Given the description of an element on the screen output the (x, y) to click on. 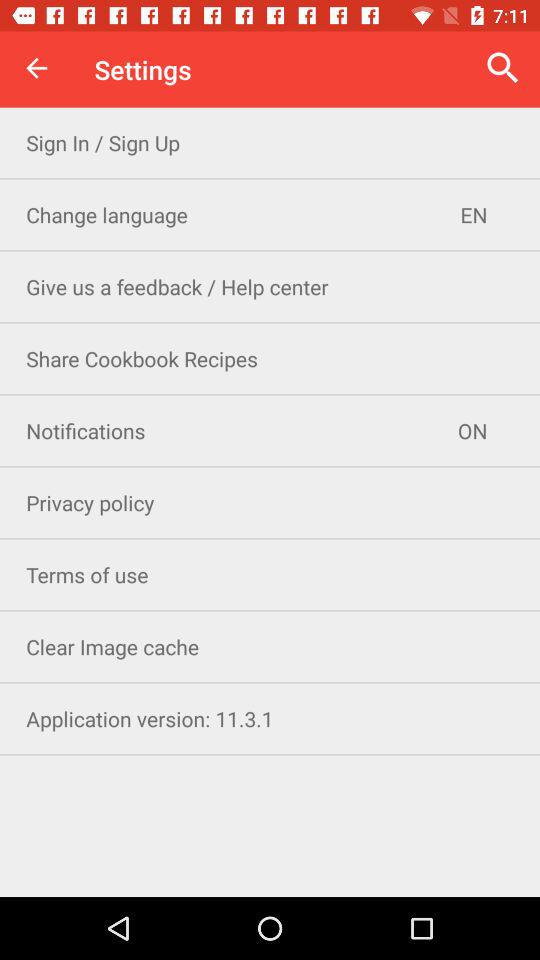
swipe until the sign in sign (270, 142)
